Given the description of an element on the screen output the (x, y) to click on. 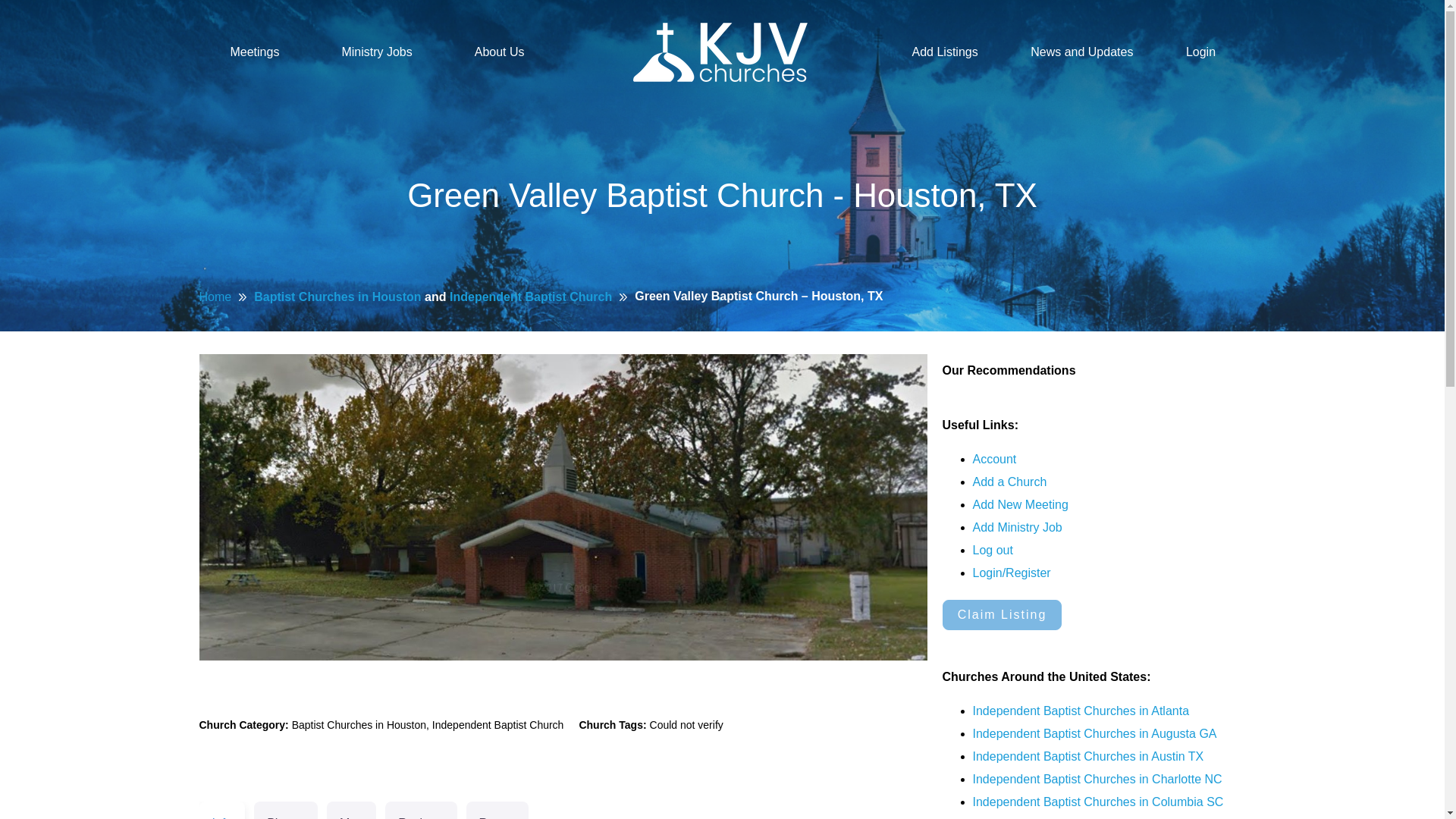
Login (1199, 52)
Add Listings (944, 52)
Photos (285, 810)
News and Updates (1081, 52)
Map (350, 810)
About Us (500, 52)
Reviews (421, 810)
Ministry Jobs (376, 52)
Report (496, 810)
